Given the description of an element on the screen output the (x, y) to click on. 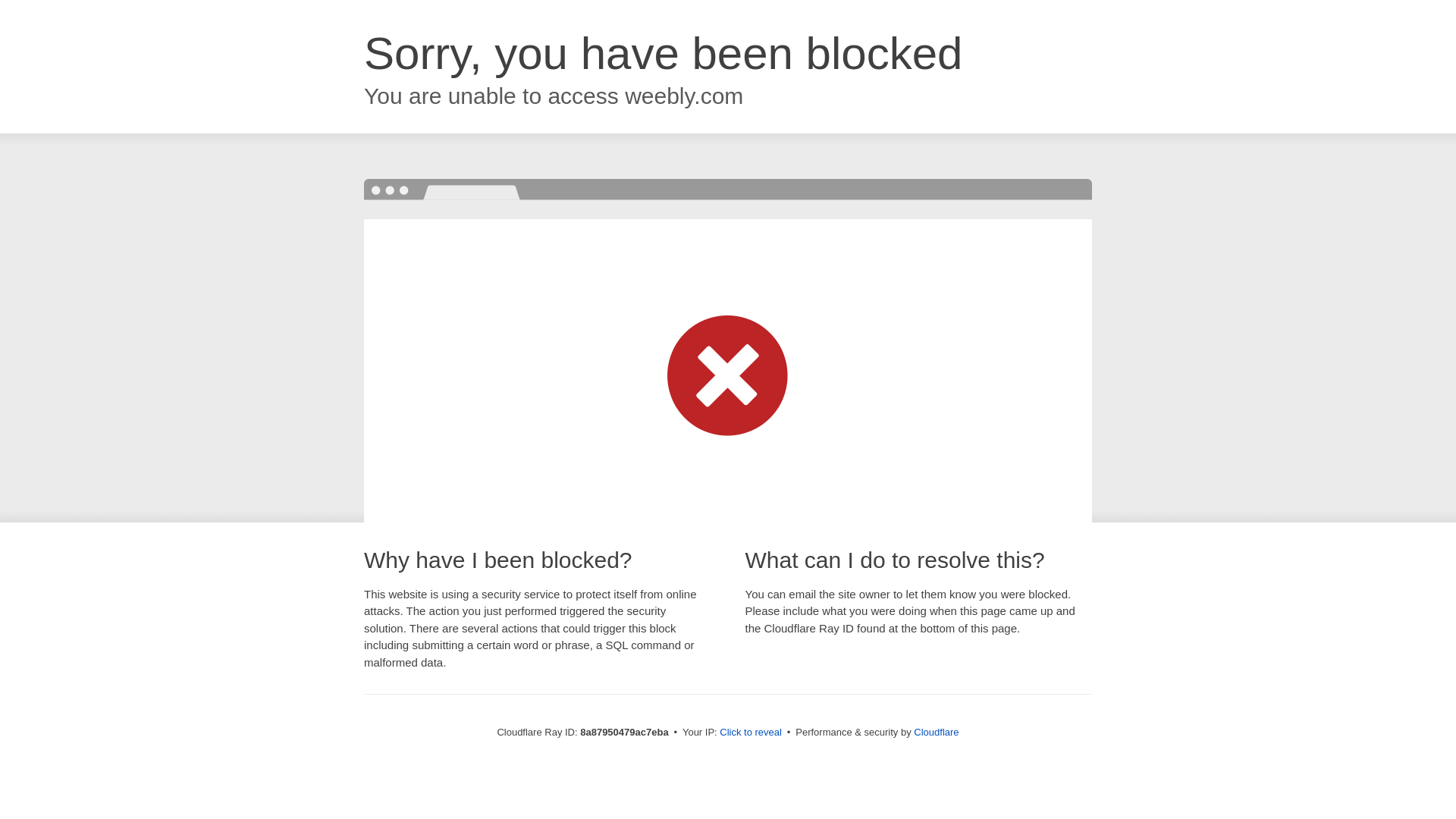
Click to reveal (750, 732)
Cloudflare (936, 731)
